Given the description of an element on the screen output the (x, y) to click on. 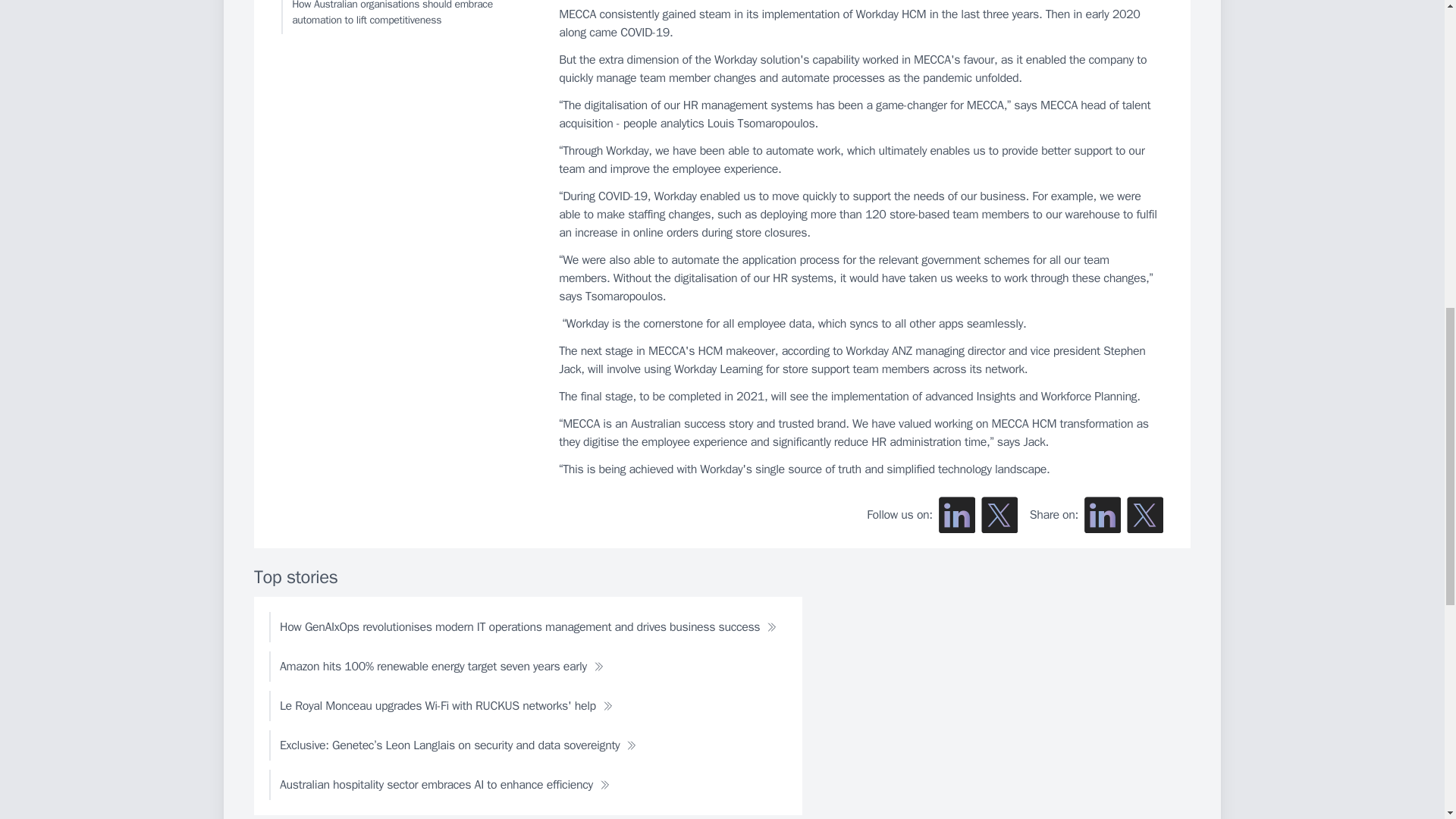
Le Royal Monceau upgrades Wi-Fi with RUCKUS networks' help (446, 706)
